Given the description of an element on the screen output the (x, y) to click on. 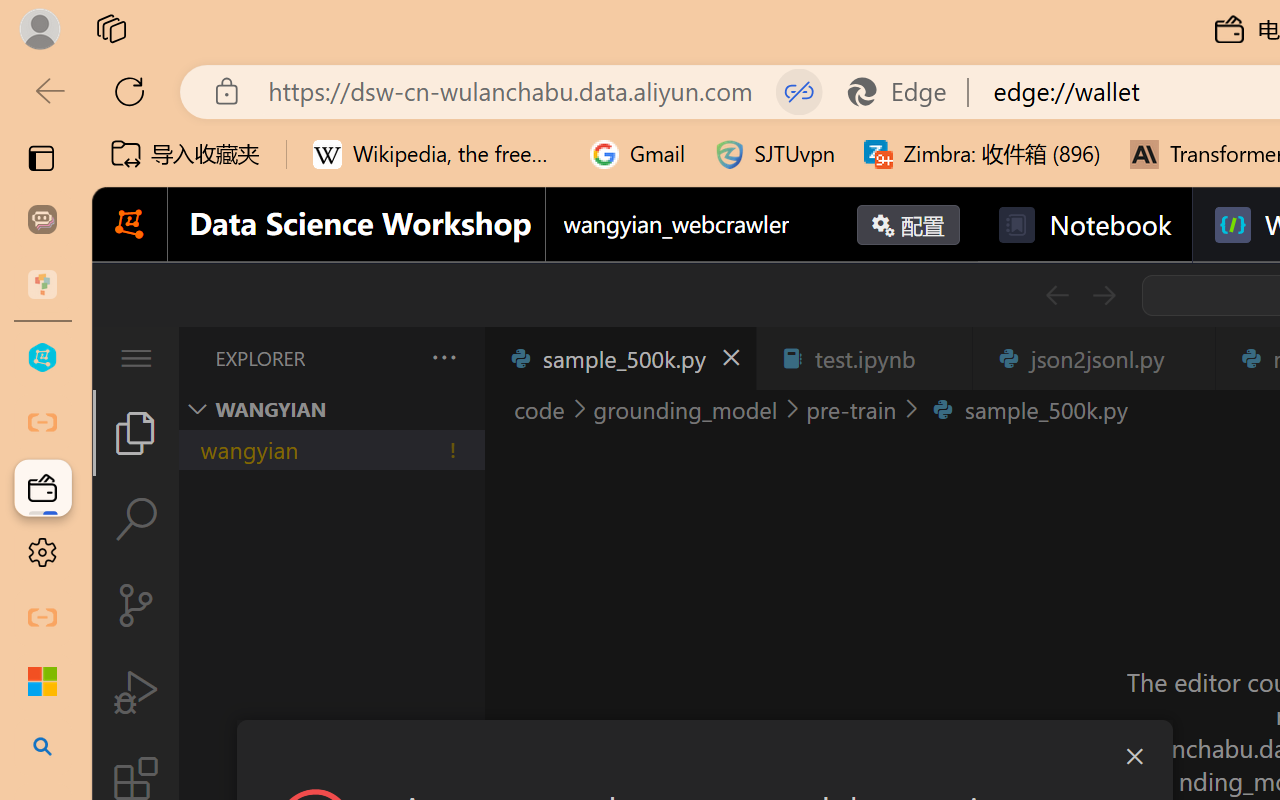
Go Back (Alt+LeftArrow) (1055, 295)
Close Dialog (1133, 756)
Class: menubar compact overflow-menu-only (135, 358)
json2jsonl.py (1092, 358)
Notebook (1083, 225)
